Given the description of an element on the screen output the (x, y) to click on. 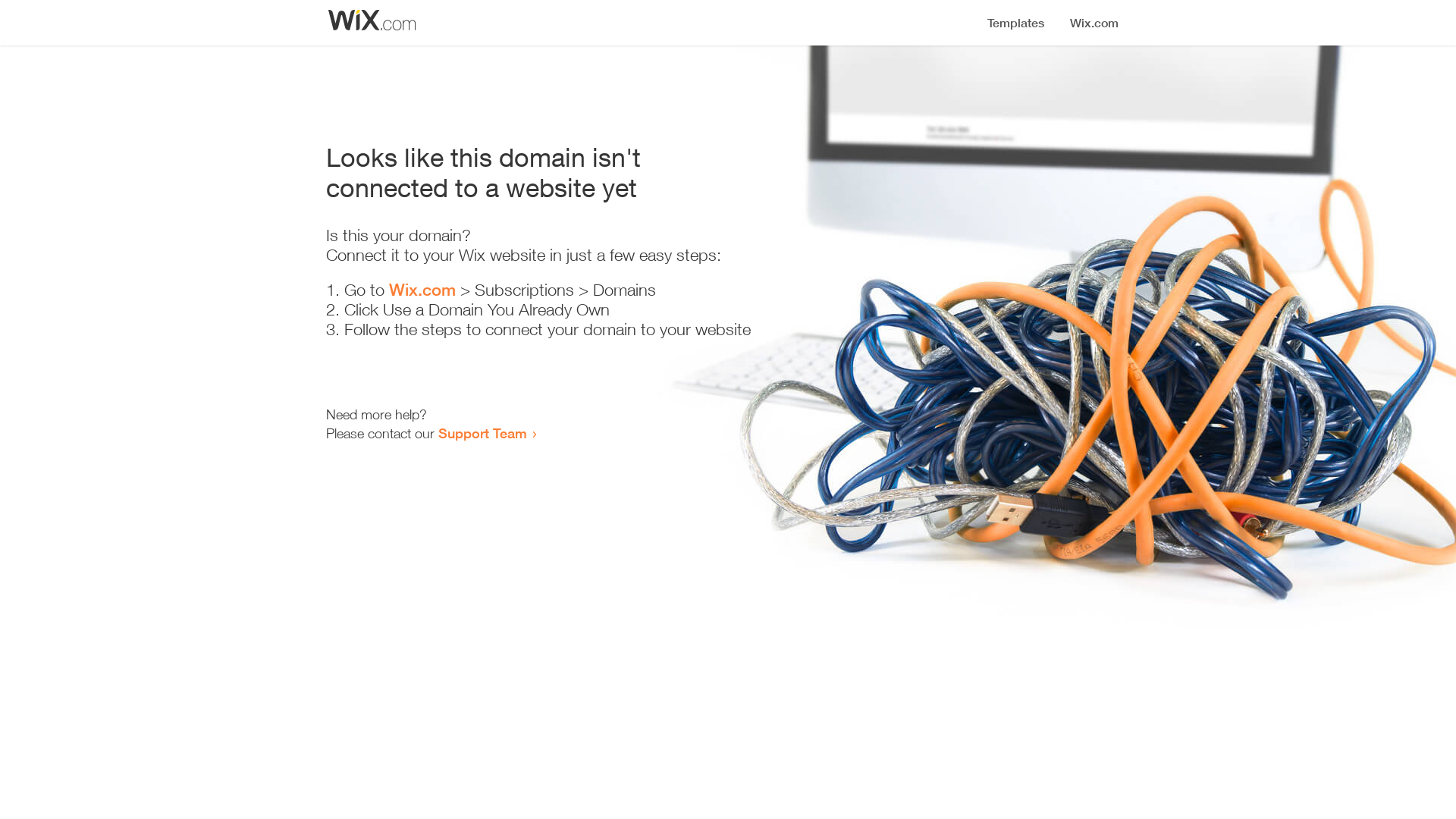
Support Team Element type: text (482, 432)
Wix.com Element type: text (422, 289)
